Given the description of an element on the screen output the (x, y) to click on. 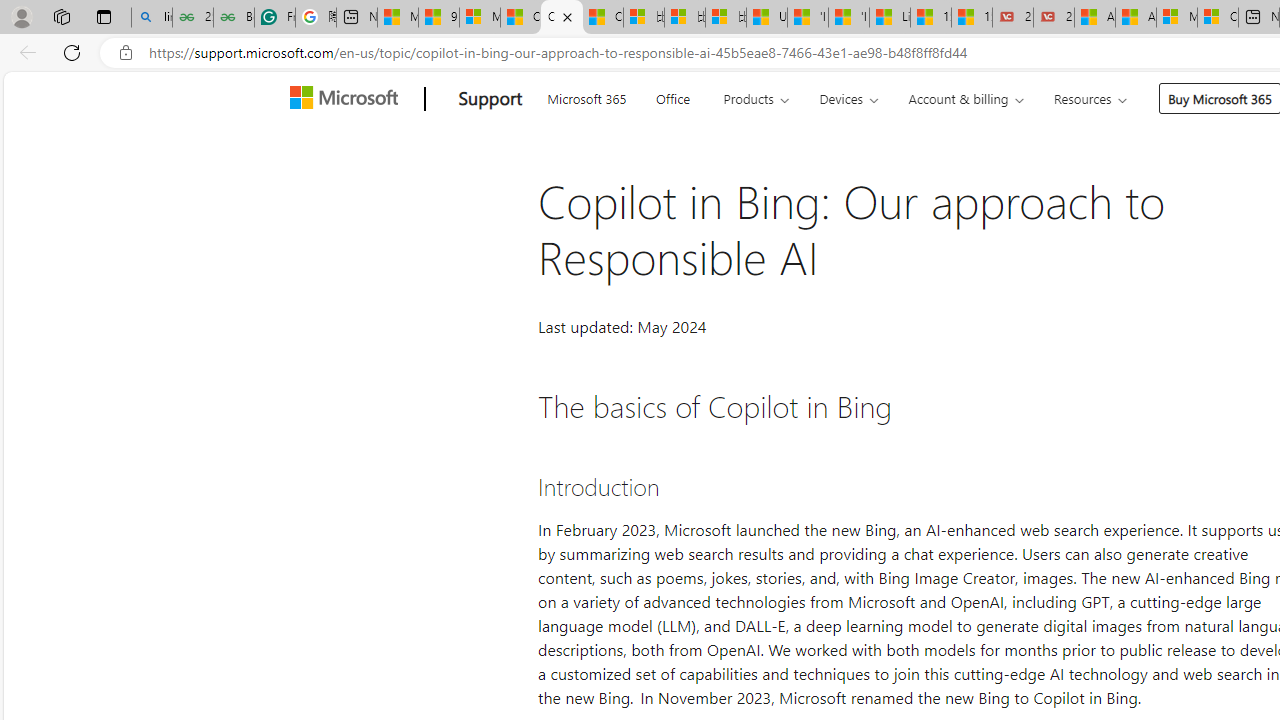
Free AI Writing Assistance for Students | Grammarly (274, 17)
21 Movies That Outdid the Books They Were Based On (1053, 17)
25 Basic Linux Commands For Beginners - GeeksforGeeks (192, 17)
USA TODAY - MSN (767, 17)
Support (490, 99)
